Given the description of an element on the screen output the (x, y) to click on. 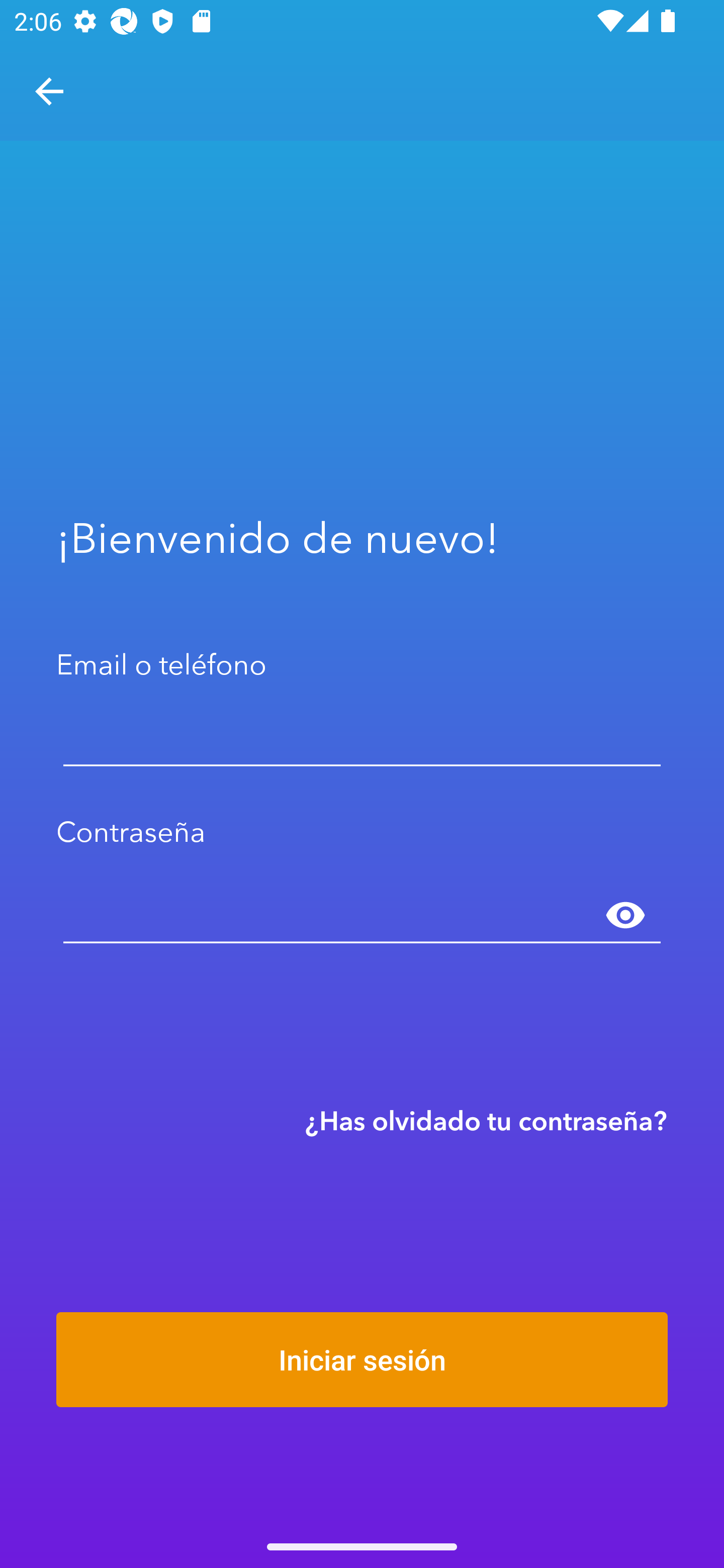
Navegar hacia arriba (49, 91)
Mostrar contraseña (625, 915)
¿Has olvidado tu contraseña? (486, 1119)
Iniciar sesión (361, 1359)
